Given the description of an element on the screen output the (x, y) to click on. 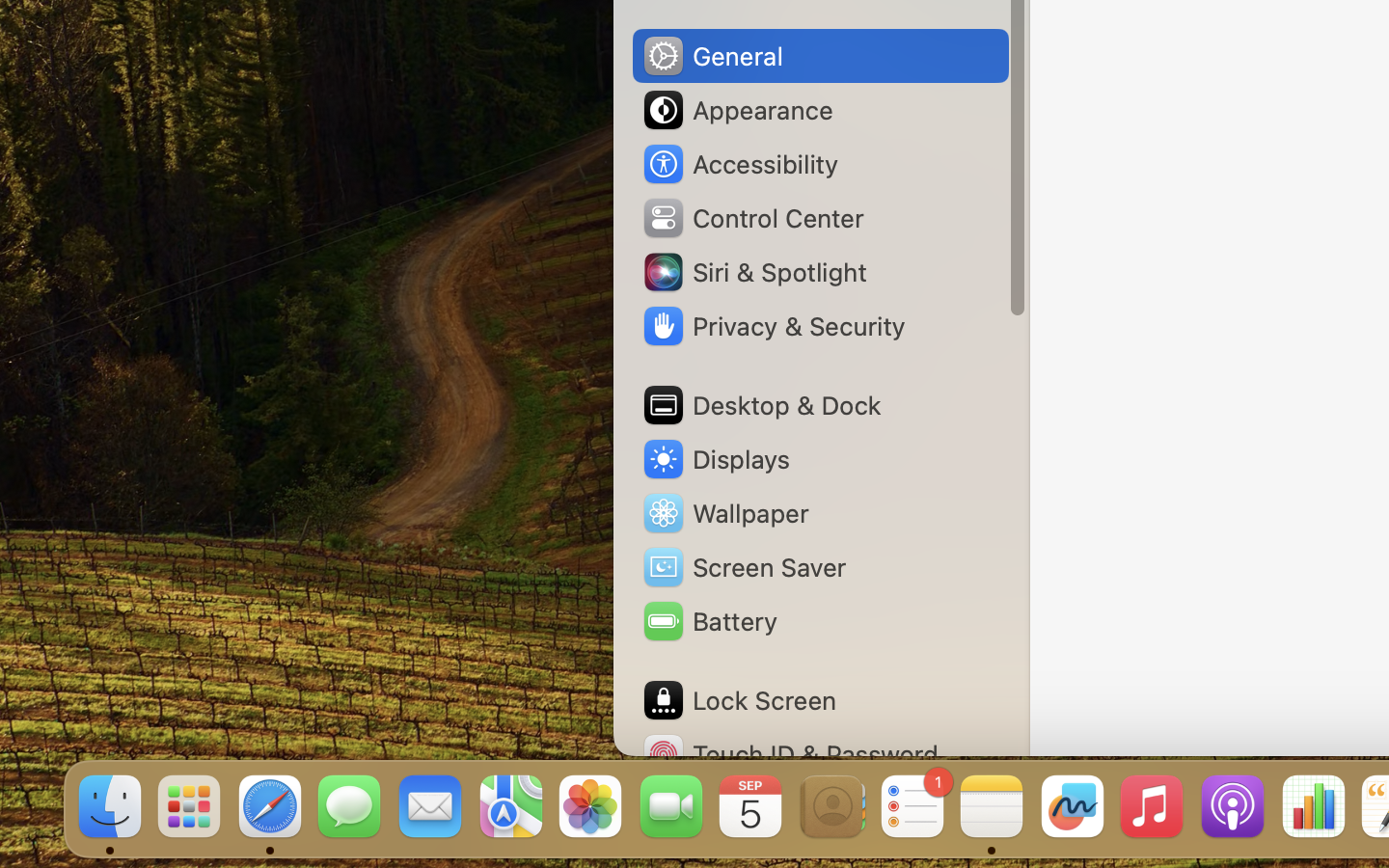
Displays Element type: AXStaticText (715, 458)
Lock Screen Element type: AXStaticText (738, 700)
Touch ID & Password Element type: AXStaticText (789, 754)
Appearance Element type: AXStaticText (736, 109)
Privacy & Security Element type: AXStaticText (772, 325)
